Given the description of an element on the screen output the (x, y) to click on. 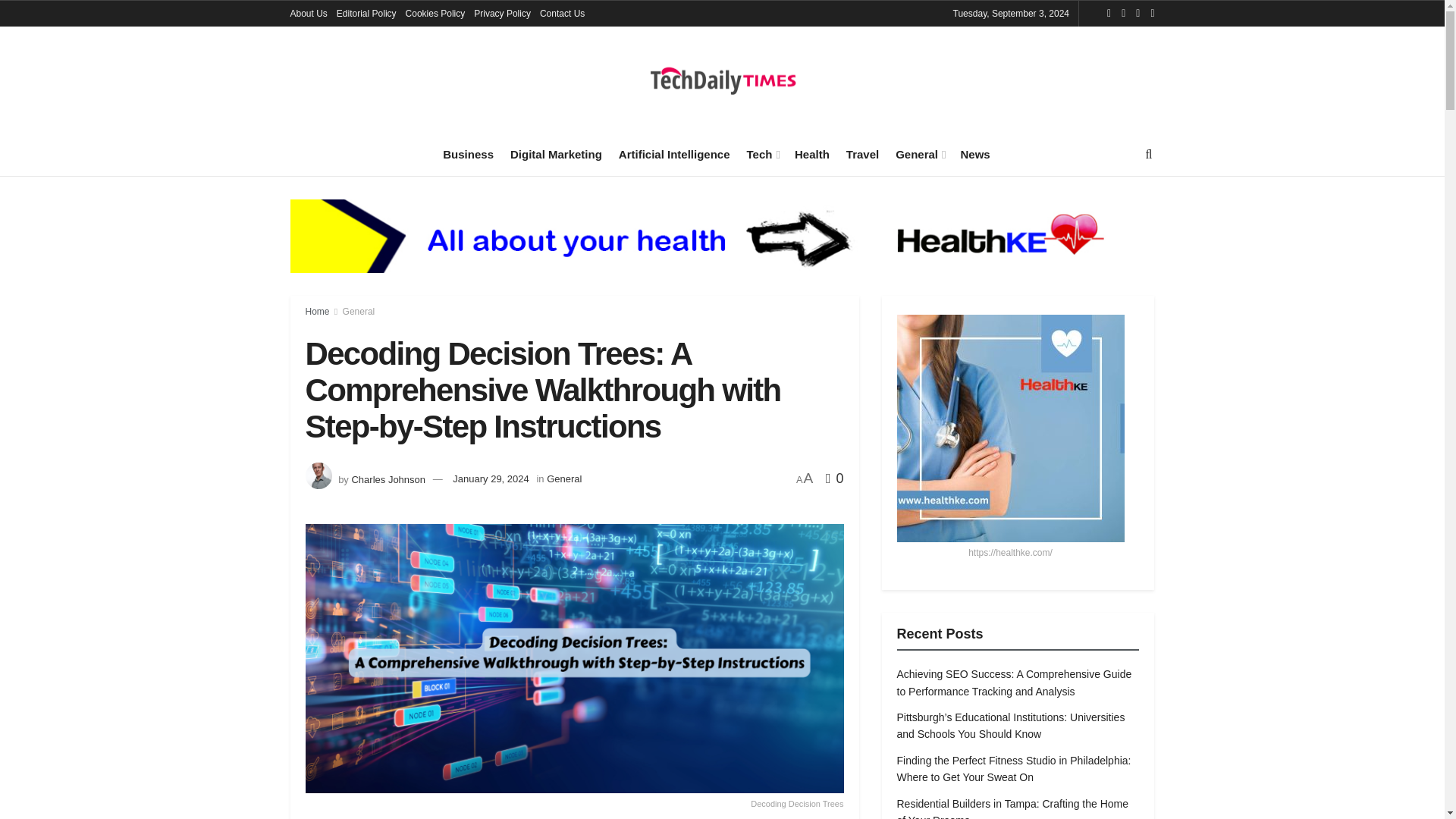
Cookies Policy (435, 13)
Artificial Intelligence (674, 154)
Privacy Policy (502, 13)
Business (467, 154)
Digital Marketing (556, 154)
About Us (307, 13)
Editorial Policy (366, 13)
Contact Us (562, 13)
General (919, 154)
